Given the description of an element on the screen output the (x, y) to click on. 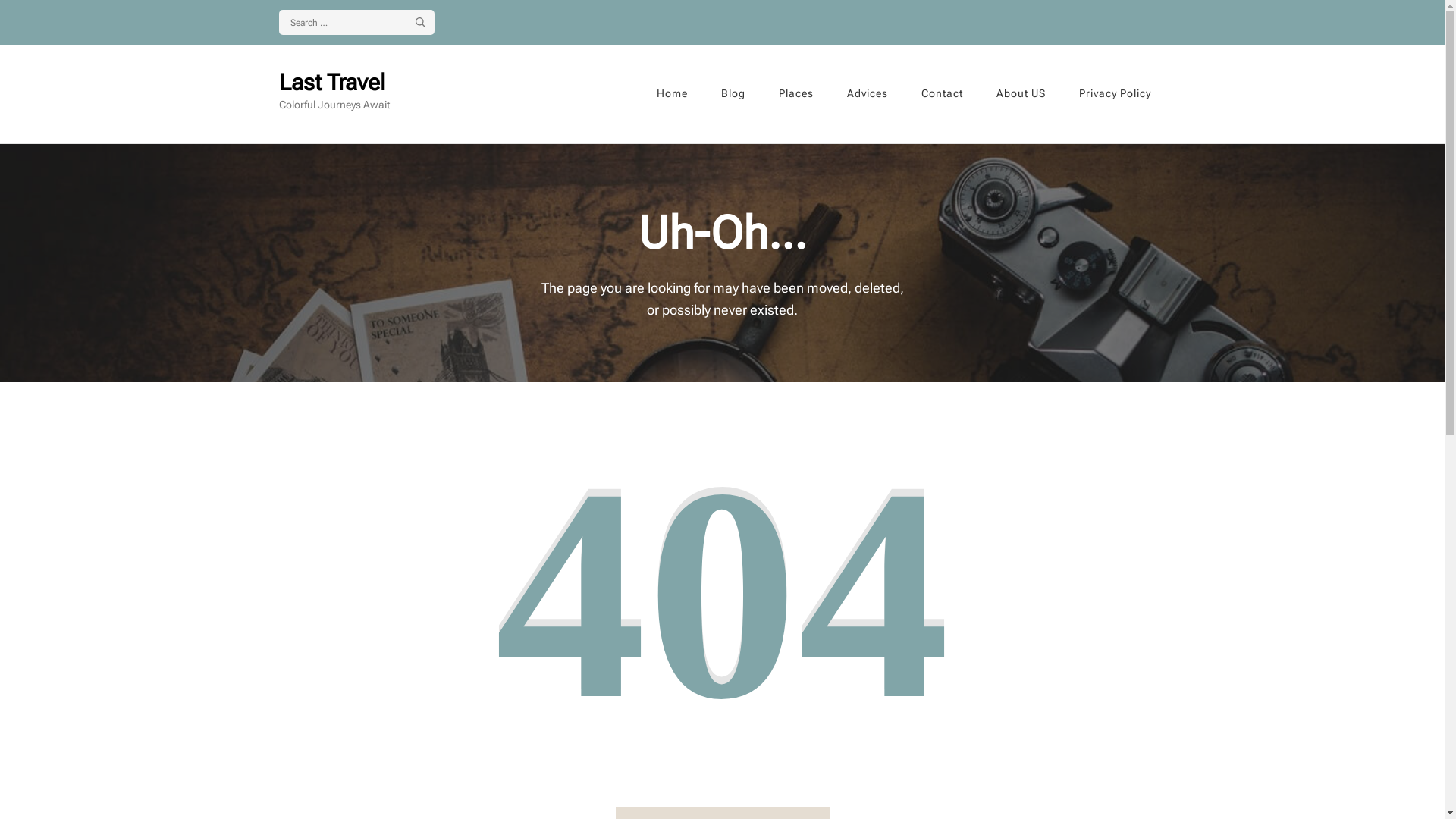
Advices Element type: text (866, 93)
Blog Element type: text (732, 93)
Privacy Policy Element type: text (1114, 93)
Last Travel Element type: text (332, 82)
Search Element type: text (424, 21)
About US Element type: text (1020, 93)
Places Element type: text (795, 93)
Contact Element type: text (941, 93)
Home Element type: text (671, 93)
